Given the description of an element on the screen output the (x, y) to click on. 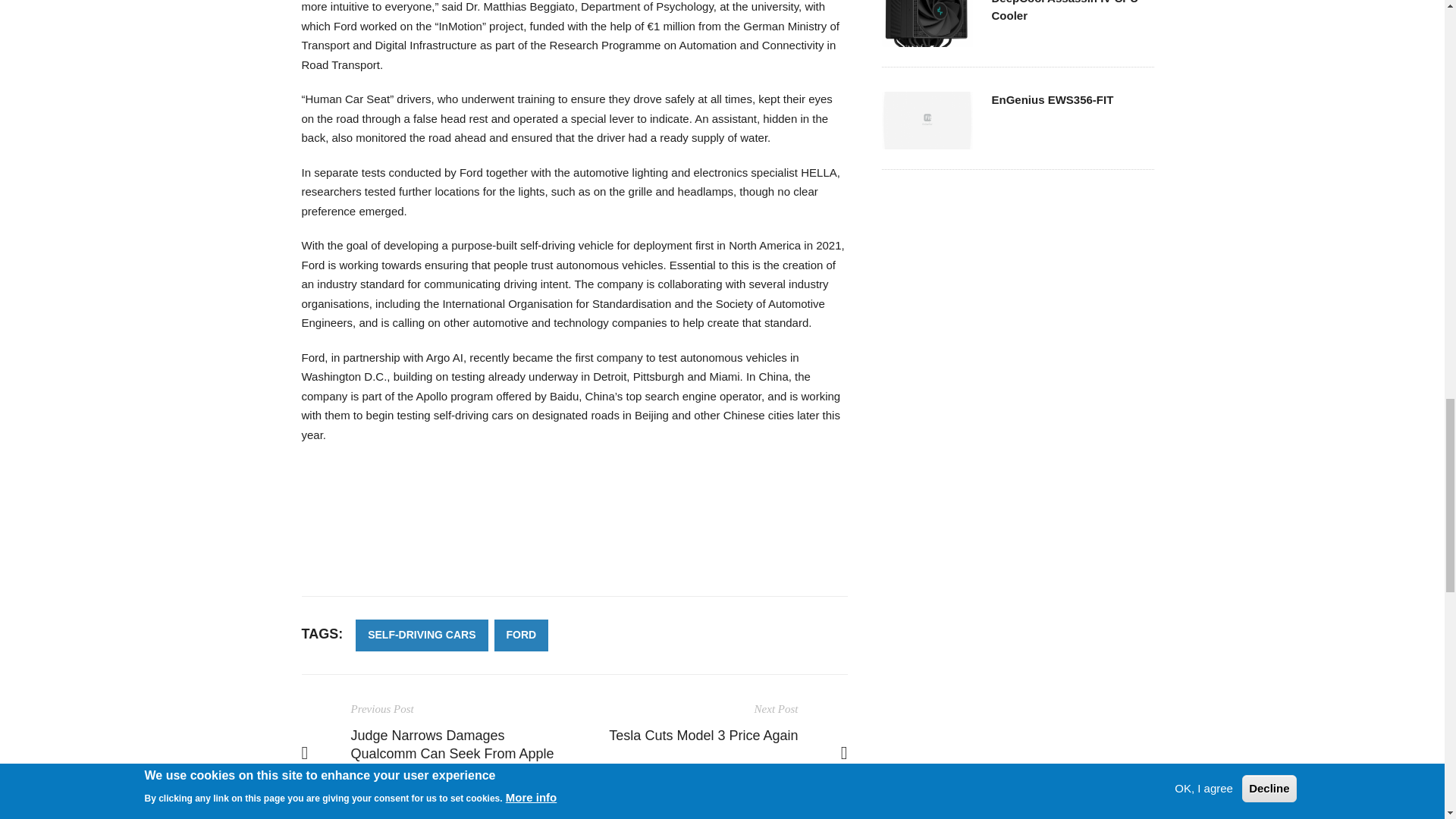
Advertisement (574, 527)
